Given the description of an element on the screen output the (x, y) to click on. 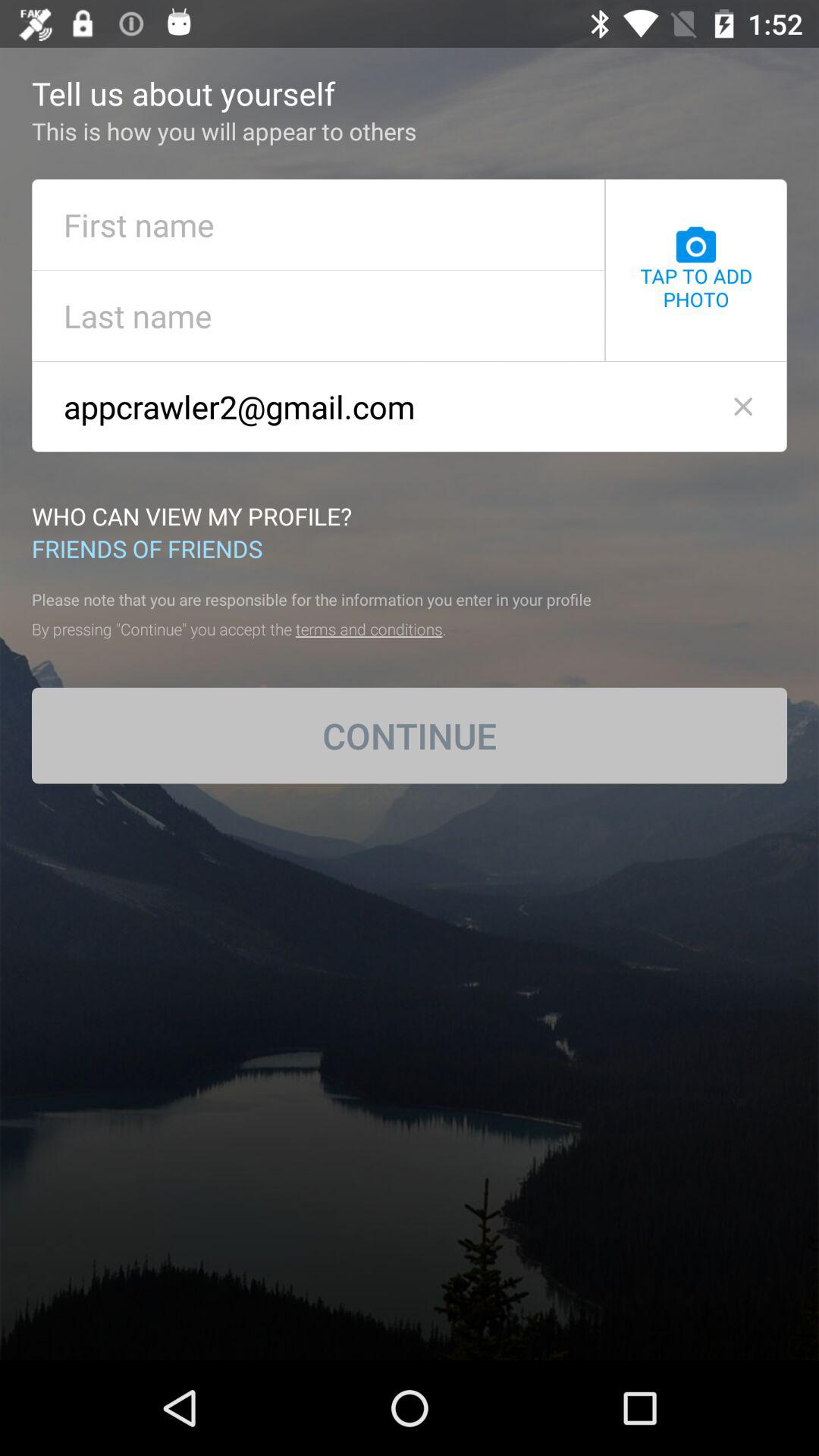
text page (318, 224)
